Given the description of an element on the screen output the (x, y) to click on. 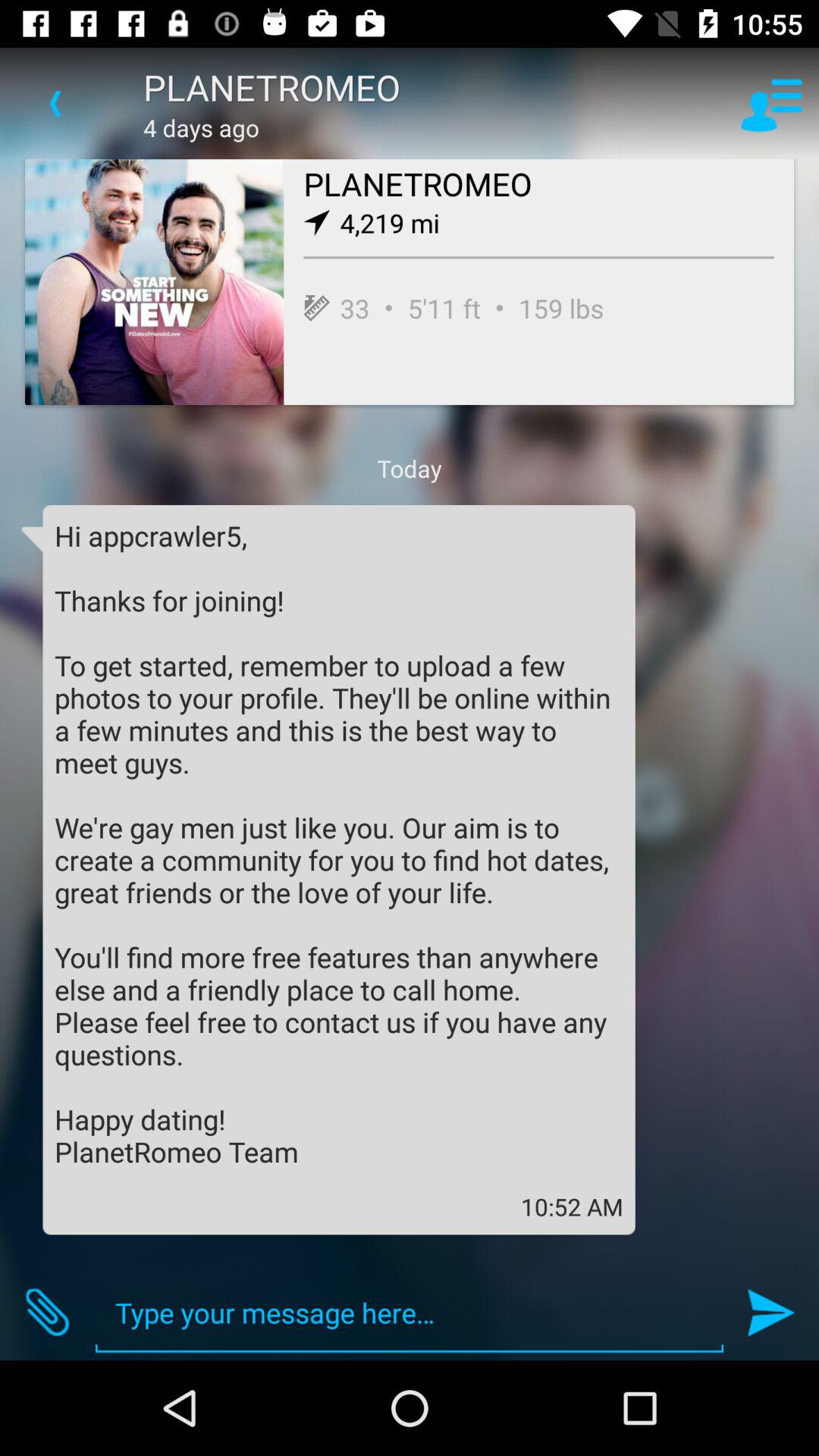
open item to the left of planetromeo item (55, 103)
